Given the description of an element on the screen output the (x, y) to click on. 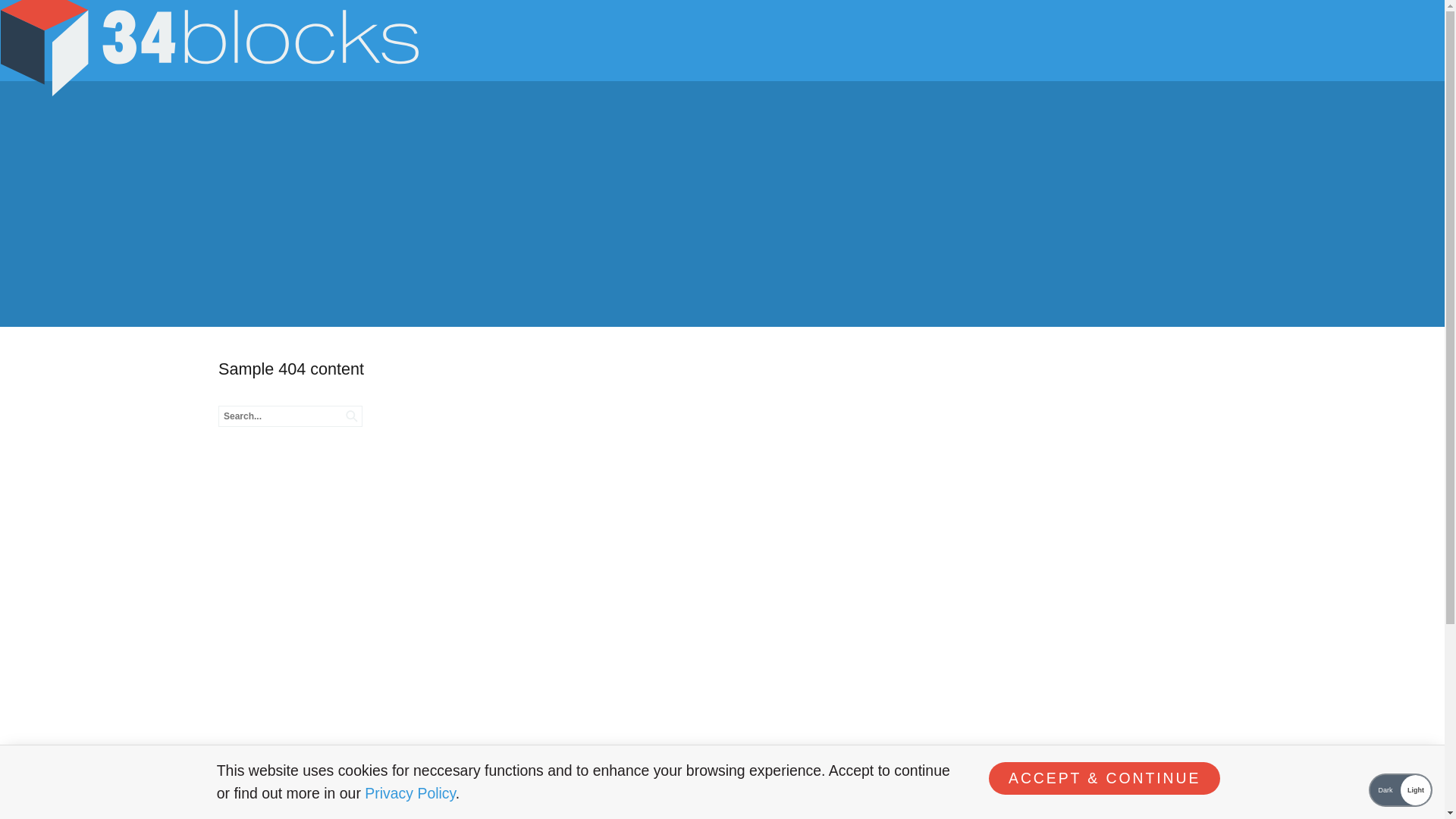
Search Element type: text (63, 17)
Privacy Policy Element type: text (409, 792)
